Given the description of an element on the screen output the (x, y) to click on. 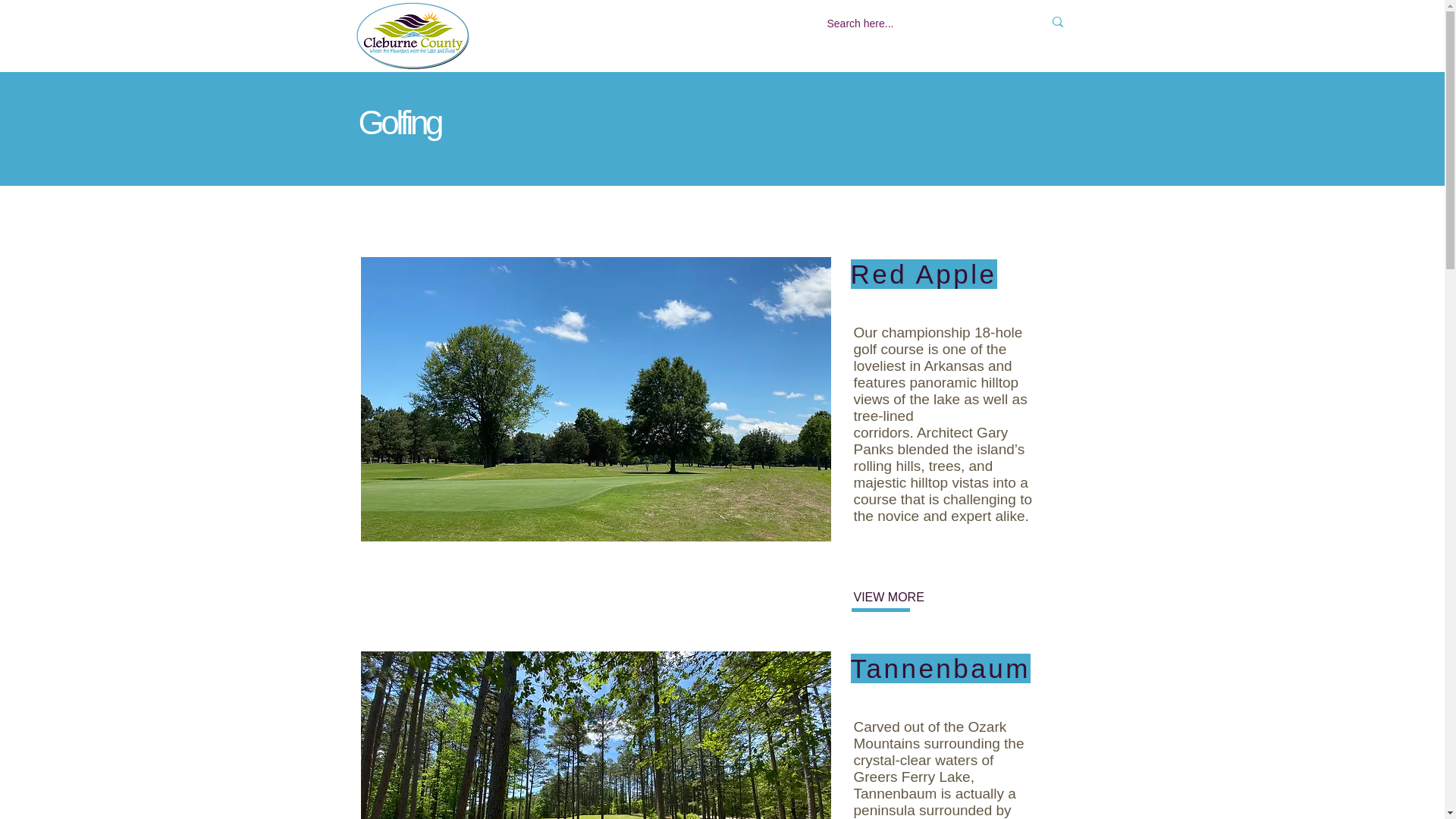
VIEW MORE (903, 598)
